Given the description of an element on the screen output the (x, y) to click on. 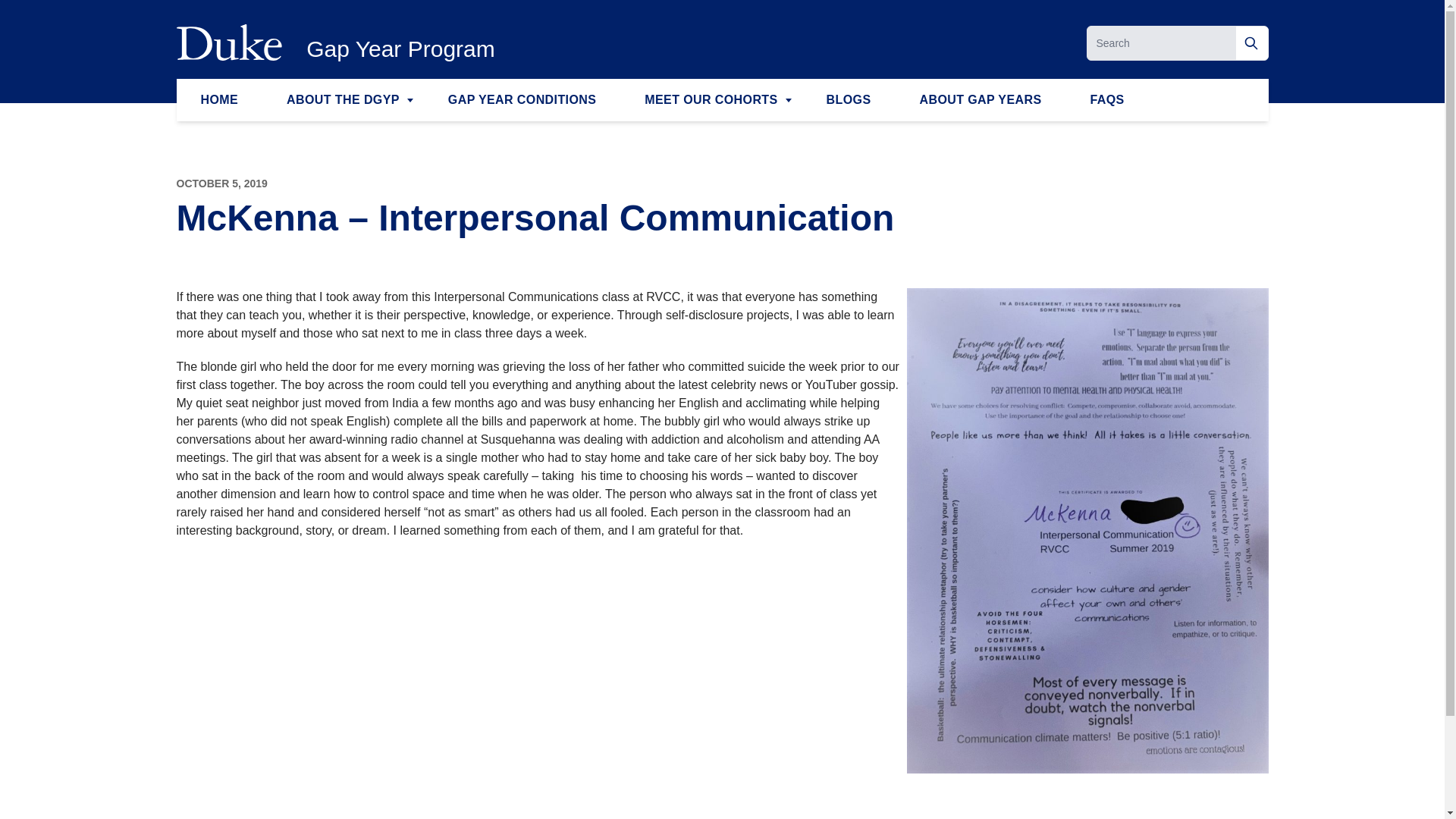
ABOUT GAP YEARS (980, 99)
ABOUT THE DGYP (342, 99)
MEET OUR COHORTS (711, 99)
Gap Year Program (400, 48)
GAP YEAR CONDITIONS (521, 99)
HOME (219, 99)
FAQS (1106, 99)
Skip to content (40, 21)
Search (1252, 42)
BLOGS (848, 99)
